Given the description of an element on the screen output the (x, y) to click on. 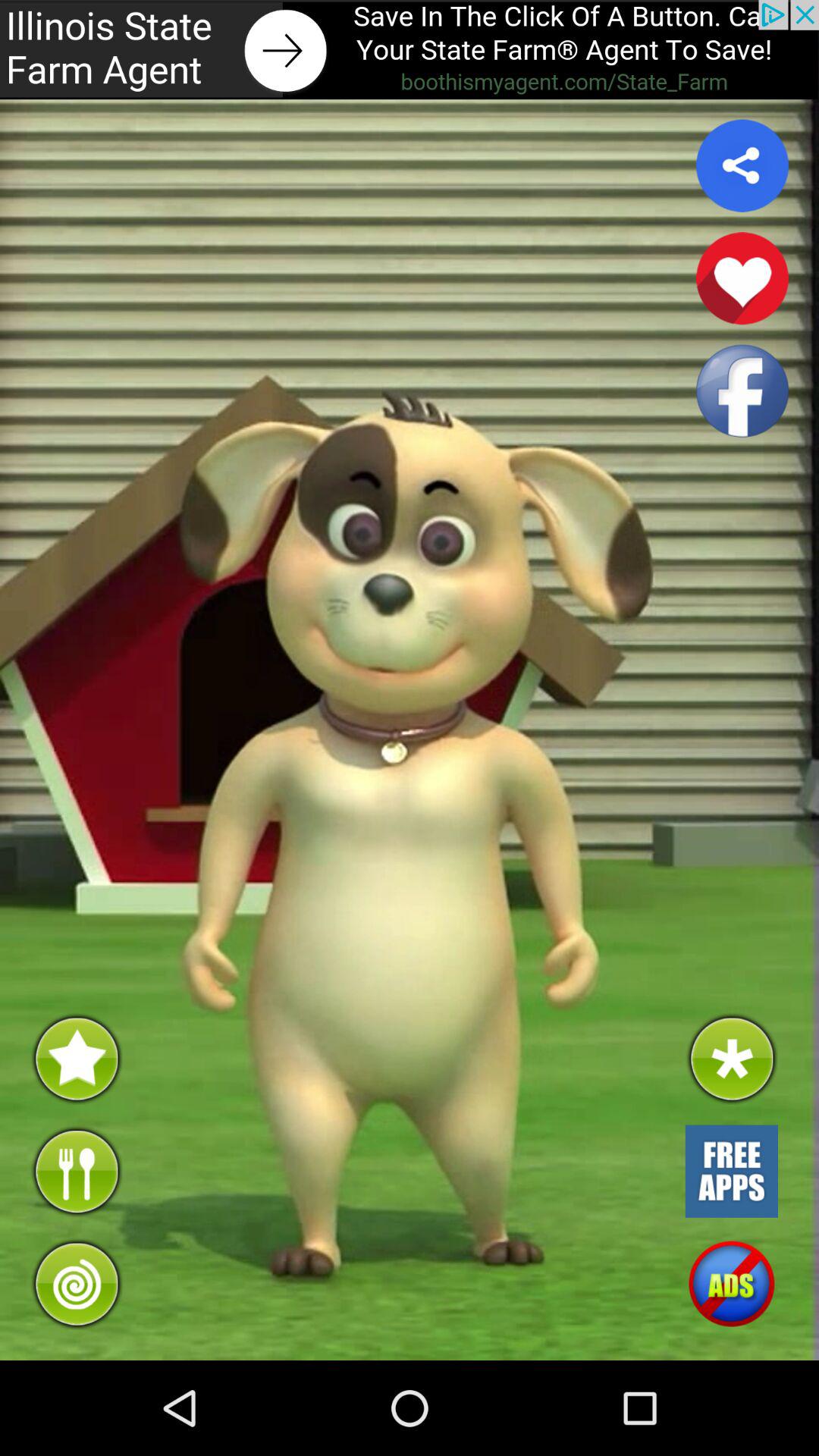
make favorite (742, 278)
